Given the description of an element on the screen output the (x, y) to click on. 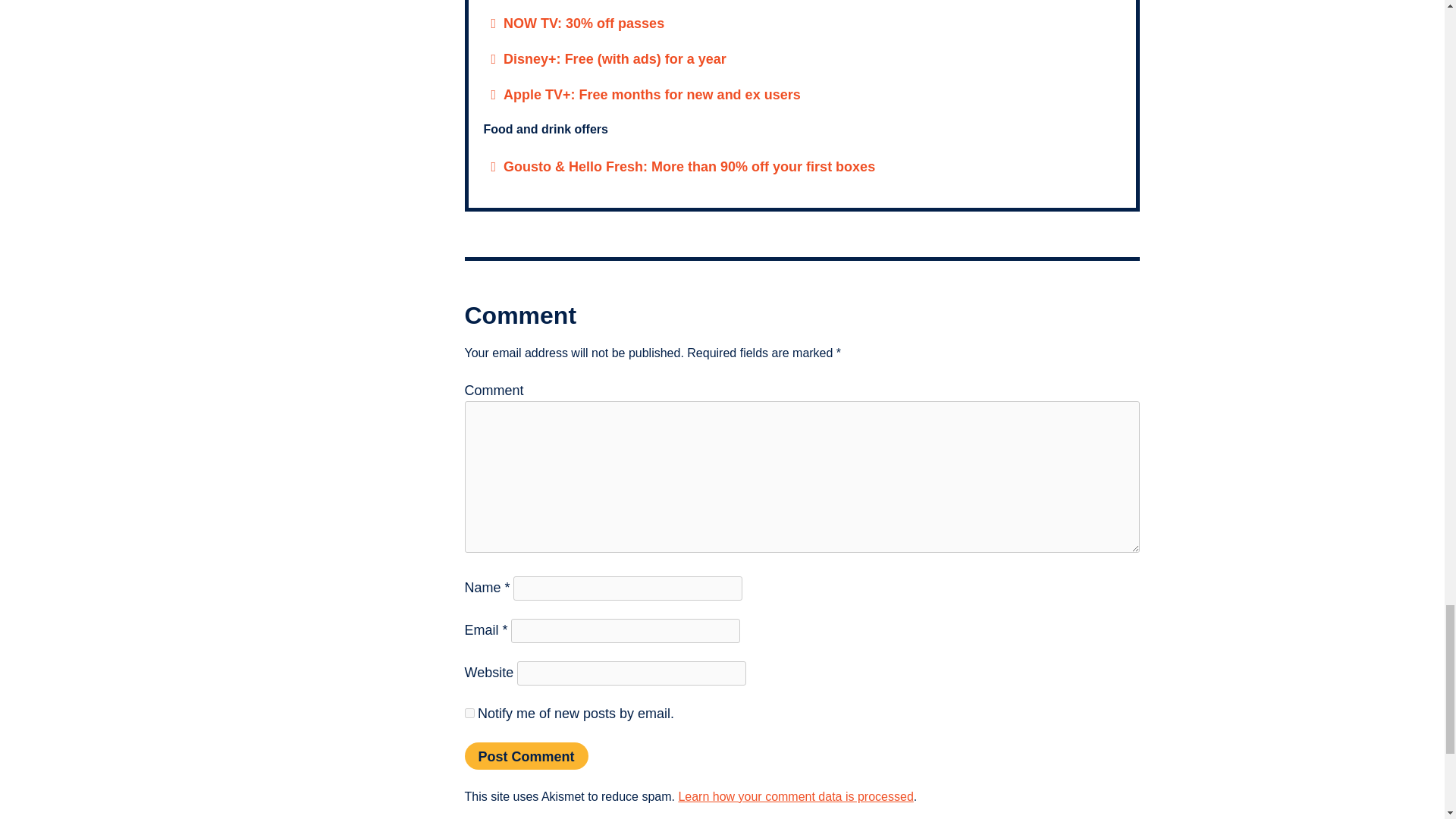
subscribe (469, 417)
Subscribe (1015, 664)
on (839, 618)
Post Comment (526, 460)
